Given the description of an element on the screen output the (x, y) to click on. 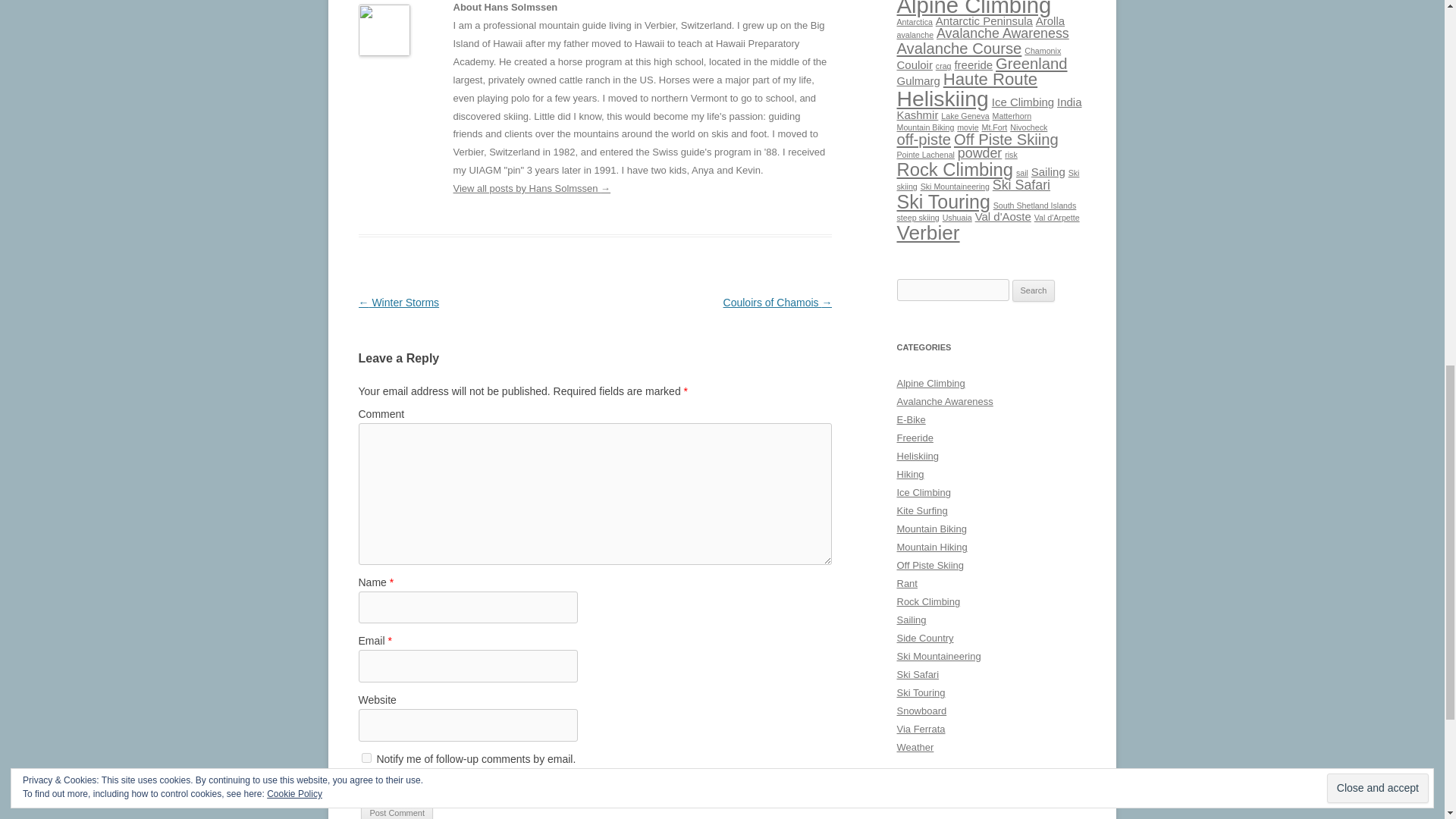
subscribe (366, 784)
subscribe (366, 757)
Search (1033, 291)
Post Comment (396, 810)
Post Comment (396, 810)
